Given the description of an element on the screen output the (x, y) to click on. 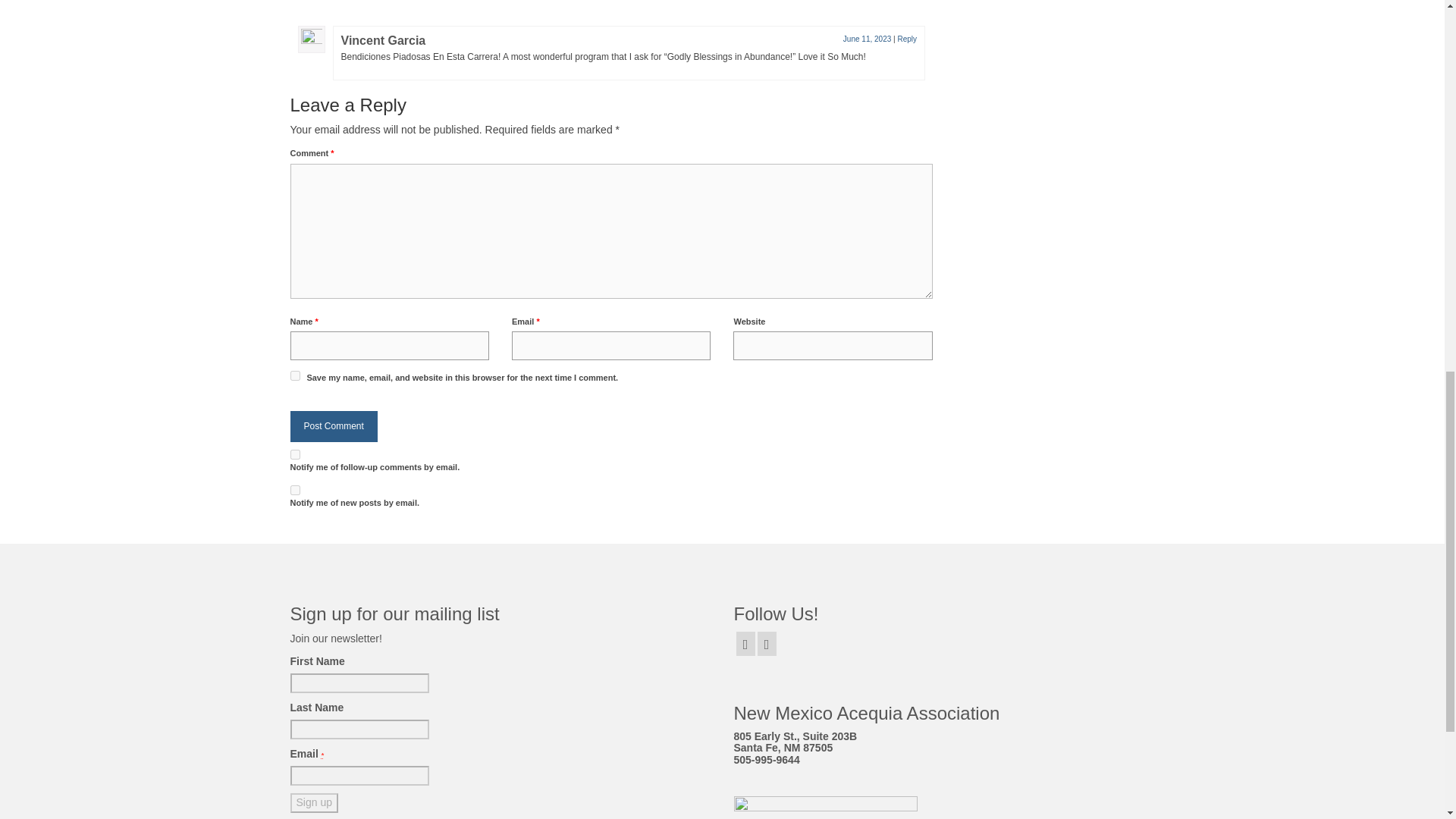
Post Comment (333, 426)
subscribe (294, 454)
yes (294, 375)
subscribe (294, 490)
Sign up (313, 803)
